Given the description of an element on the screen output the (x, y) to click on. 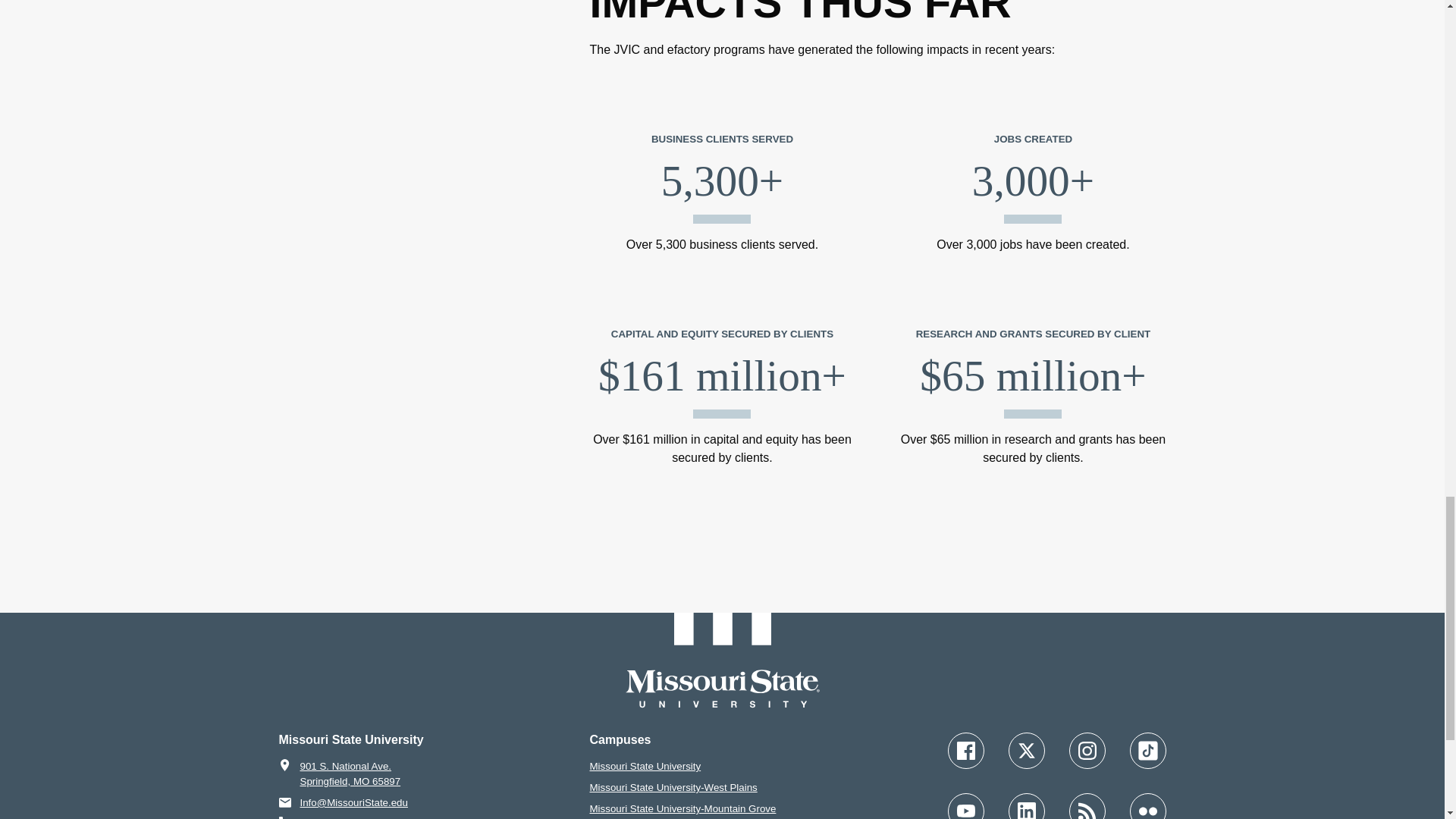
Follow Missouri State on X (1027, 750)
Follow Missouri State on TikTok (1147, 750)
Follow Missouri State on Facebook (965, 750)
Follow Missouri State on YouTube (965, 806)
Follow Missouri State on Instagram (1086, 750)
Follow Missouri State Blogs (1086, 806)
Follow Missouri State on LinkedIn (1027, 806)
Follow Missouri State on Flickr (1147, 806)
